Given the description of an element on the screen output the (x, y) to click on. 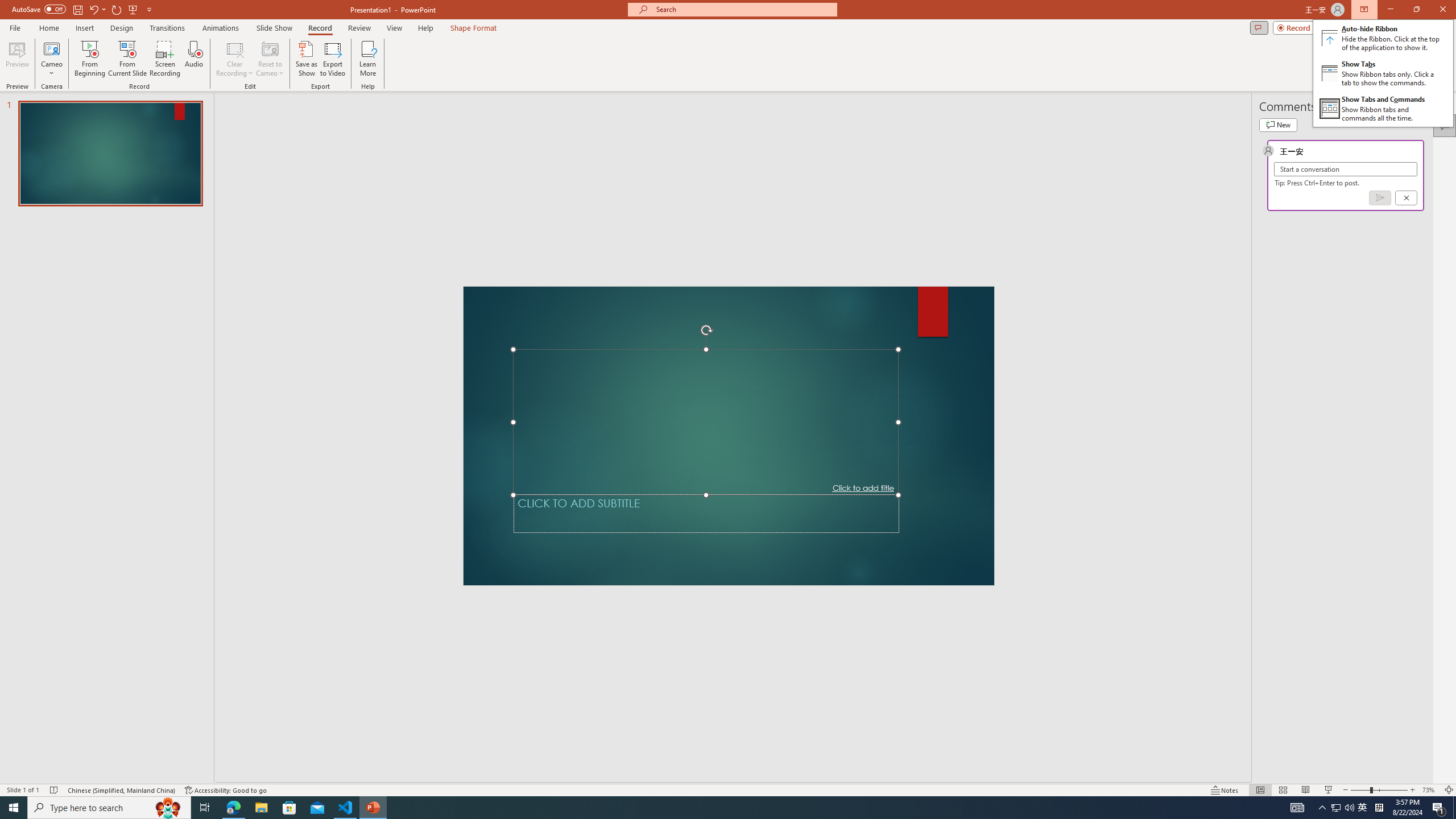
Undo (96, 9)
Post comment (Ctrl + Enter) (1379, 197)
Slide Show (273, 28)
Restore Down (1416, 9)
From Beginning (133, 9)
More Options (51, 68)
Cameo (51, 48)
Reset to Cameo (269, 58)
Customize Quick Access Toolbar (149, 9)
File Explorer (261, 807)
Review (359, 28)
Save (77, 9)
Zoom (1379, 790)
From Current Slide... (127, 58)
Shape Format (473, 28)
